Given the description of an element on the screen output the (x, y) to click on. 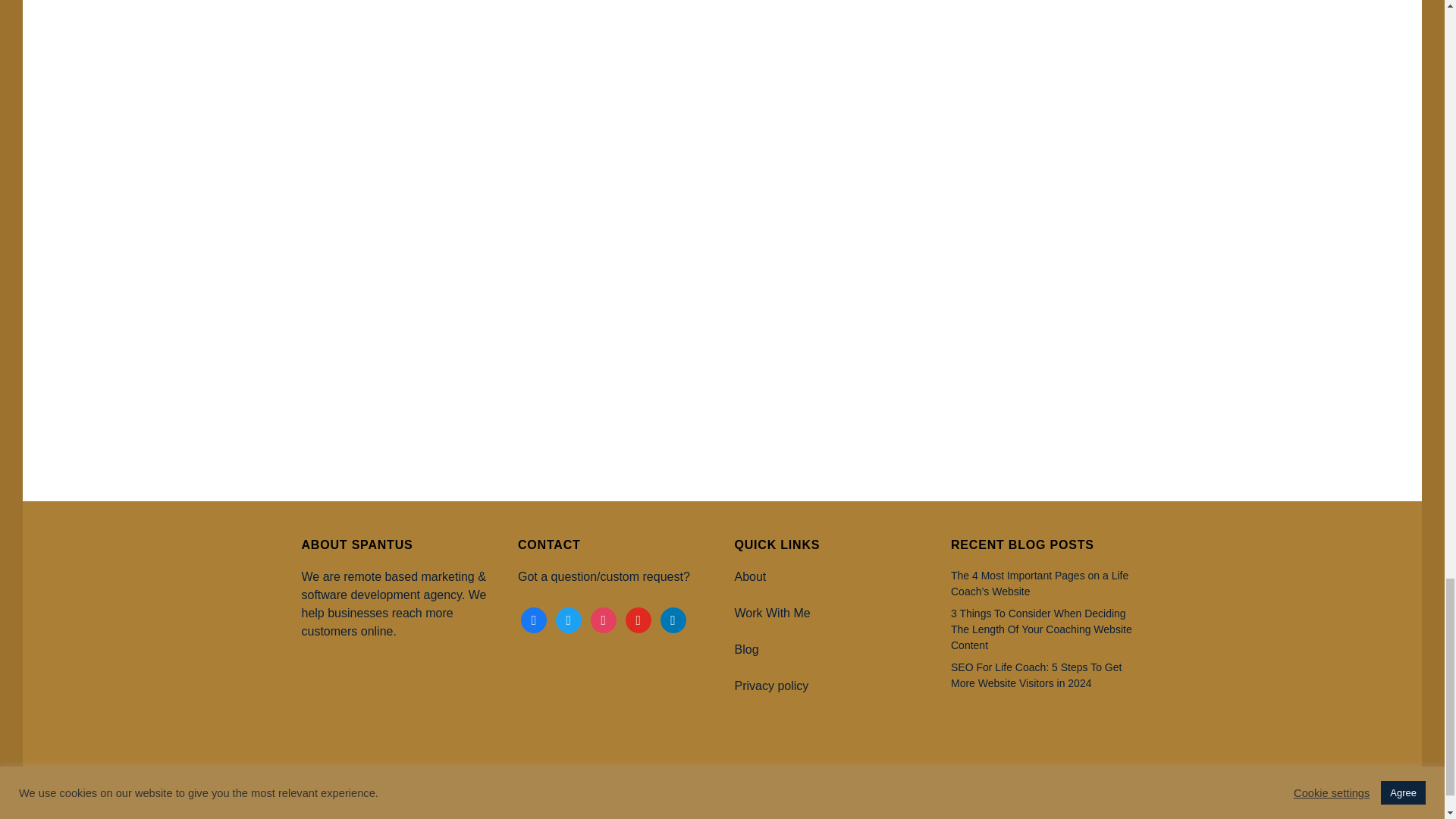
Blog (745, 649)
Twitter (568, 619)
Work With Me (771, 612)
Facebook (534, 619)
Default Label (673, 619)
Privacy policy (770, 685)
About (749, 576)
Instagram (603, 619)
Default Label (638, 619)
